Given the description of an element on the screen output the (x, y) to click on. 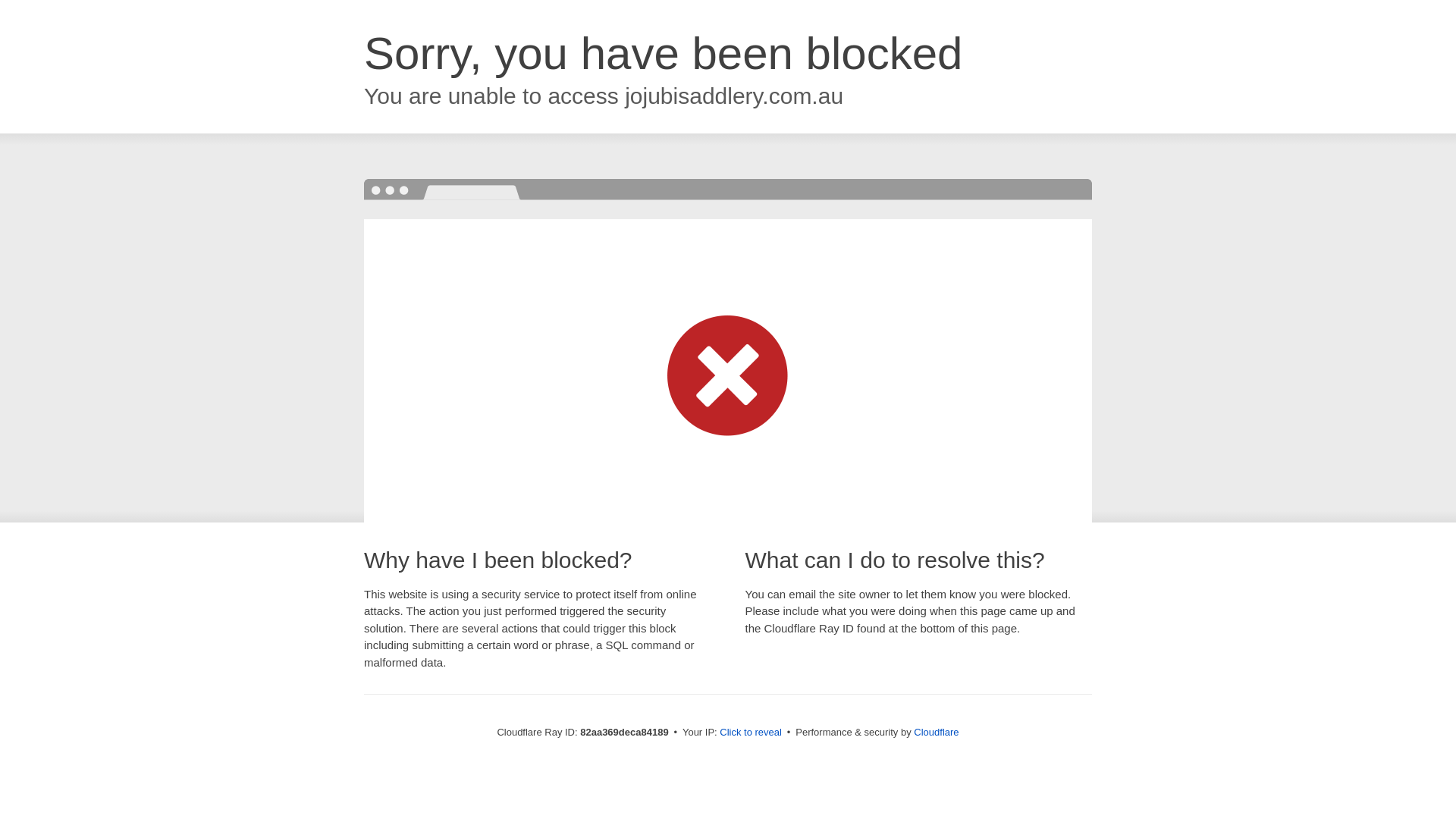
Cloudflare Element type: text (935, 731)
Click to reveal Element type: text (750, 732)
